Given the description of an element on the screen output the (x, y) to click on. 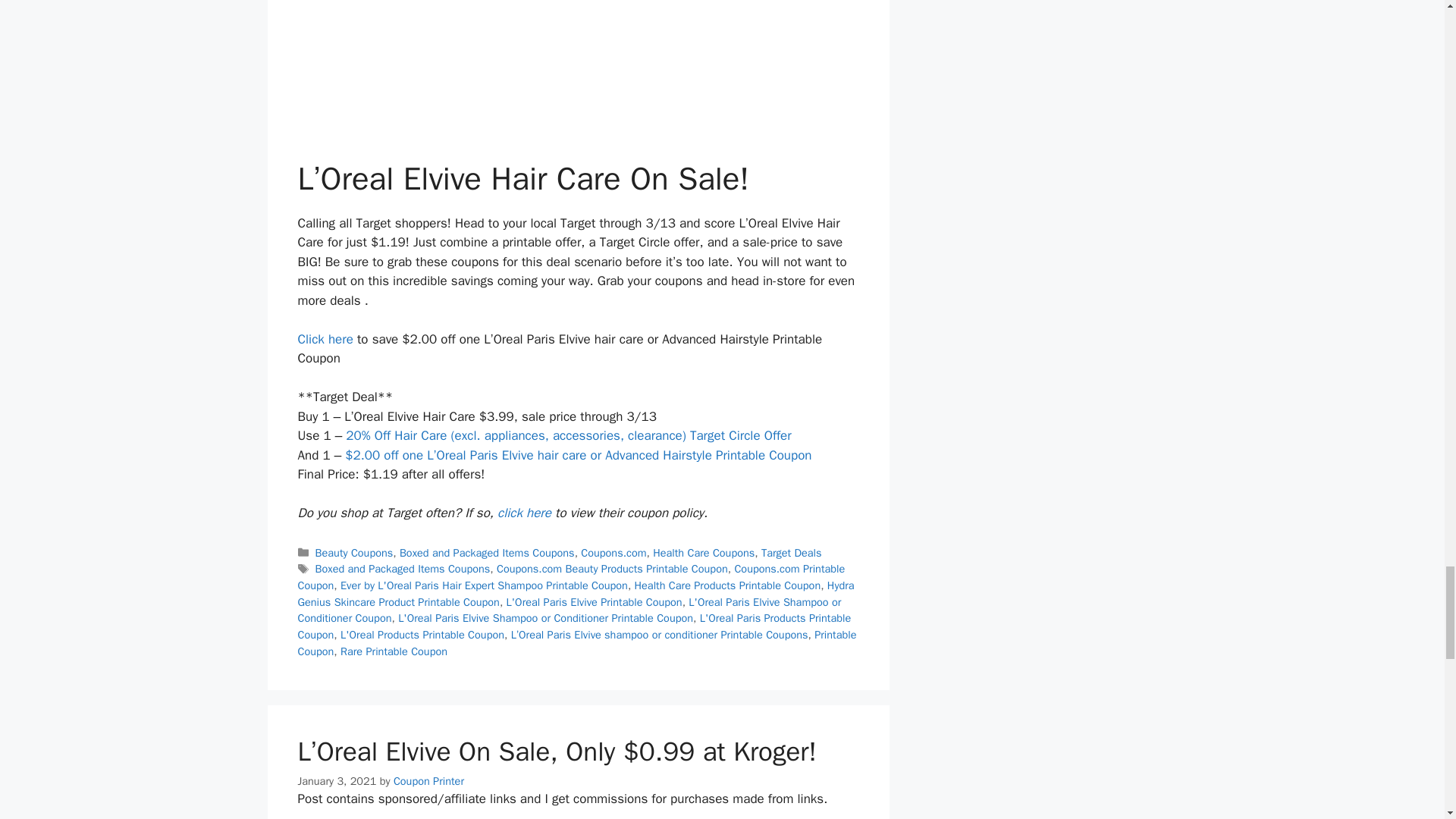
View all posts by Coupon Printer (428, 780)
